Given the description of an element on the screen output the (x, y) to click on. 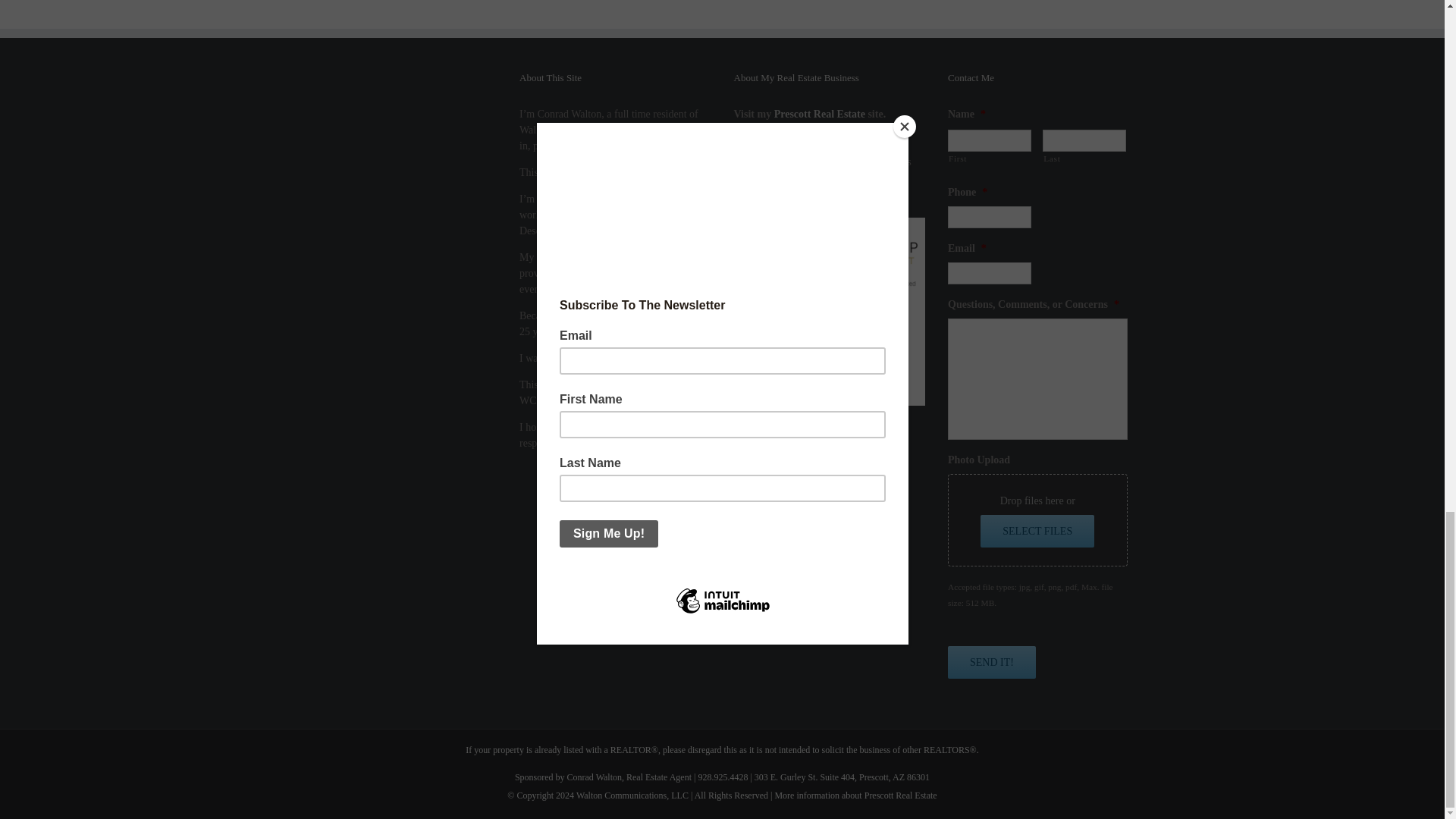
Send it! (991, 662)
